Given the description of an element on the screen output the (x, y) to click on. 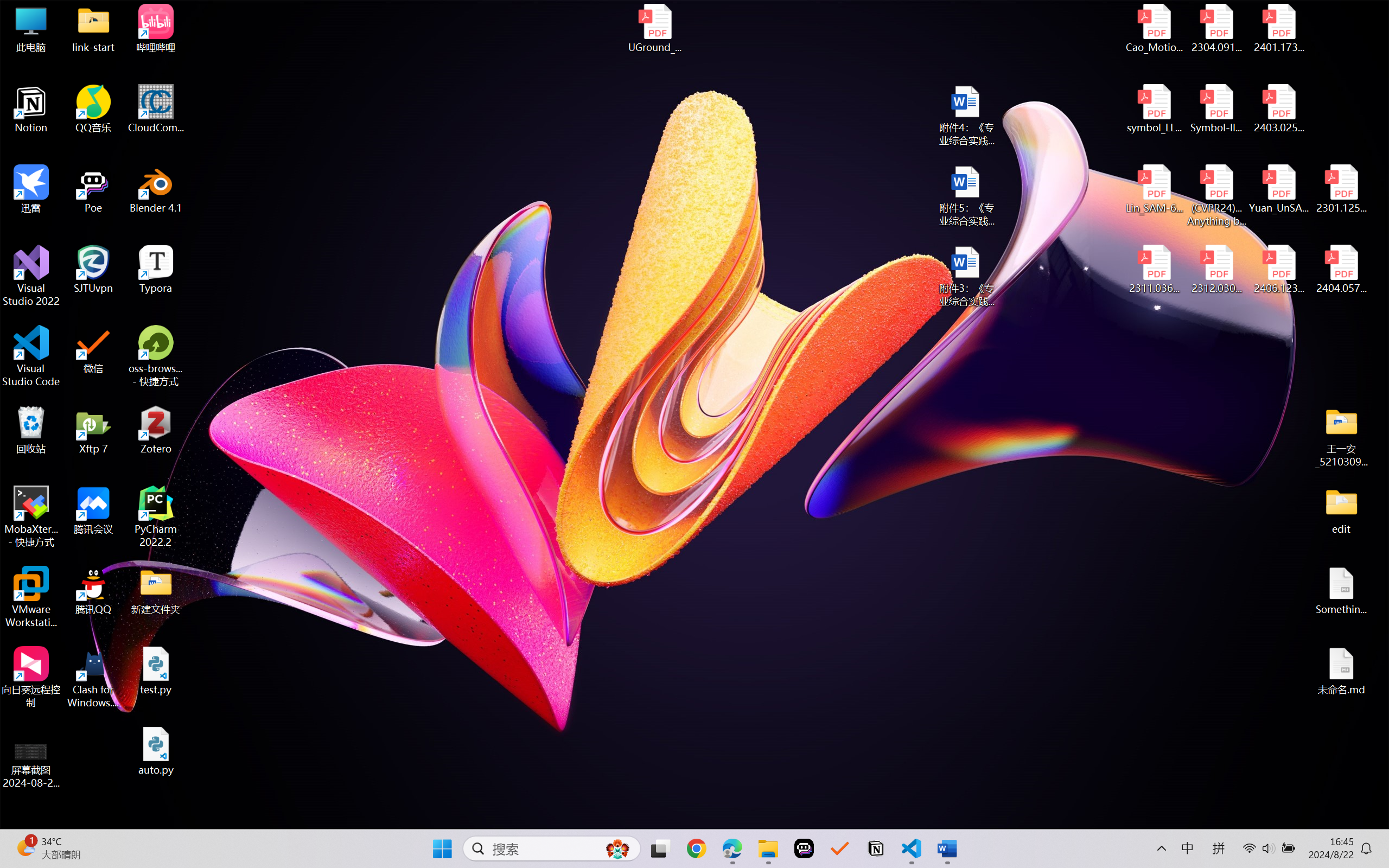
Google Chrome (696, 848)
2311.03658v2.pdf (1154, 269)
Typora (156, 269)
2312.03032v2.pdf (1216, 269)
auto.py (156, 751)
